Given the description of an element on the screen output the (x, y) to click on. 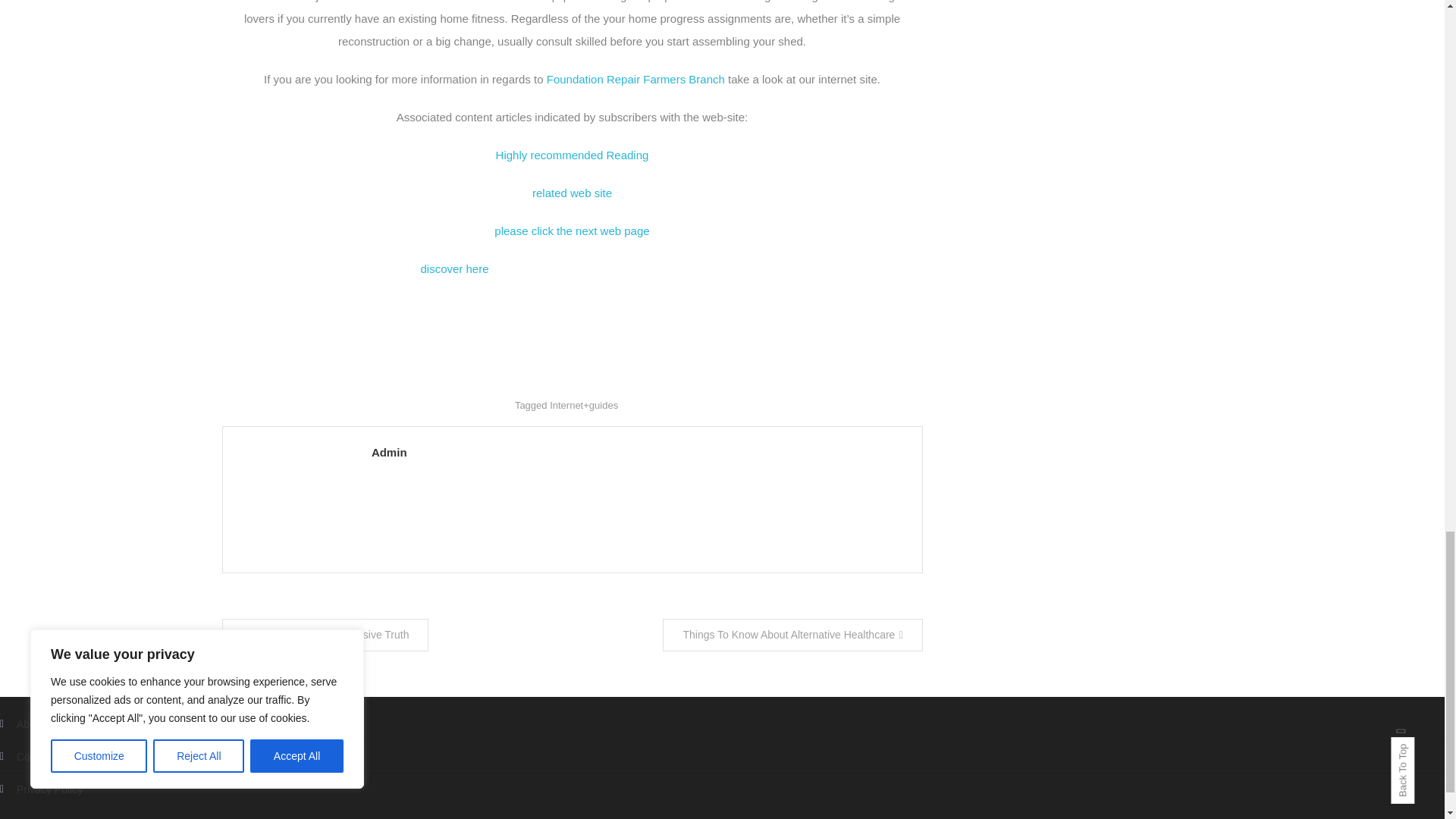
related web site (571, 192)
Foundation Repair Farmers Branch (636, 78)
Highly recommended Reading (572, 154)
Admin (639, 452)
please click the next web page (572, 230)
Things To Know About Alternative Healthcare (791, 635)
refurbish (497, 1)
discover here (453, 268)
Find Out More On Exclusive Truth (324, 635)
